Given the description of an element on the screen output the (x, y) to click on. 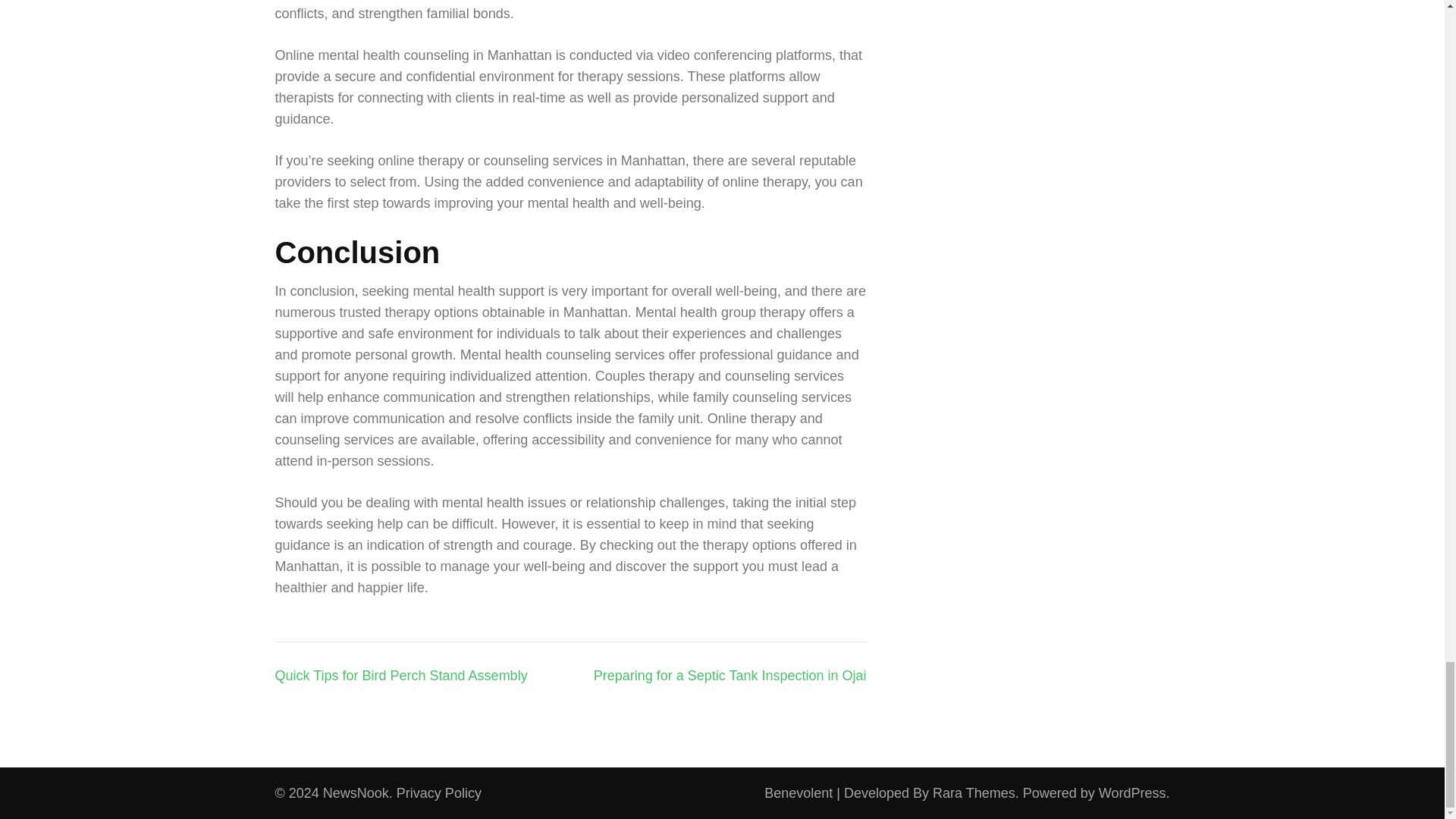
Preparing for a Septic Tank Inspection in Ojai (730, 675)
Quick Tips for Bird Perch Stand Assembly (401, 675)
